Given the description of an element on the screen output the (x, y) to click on. 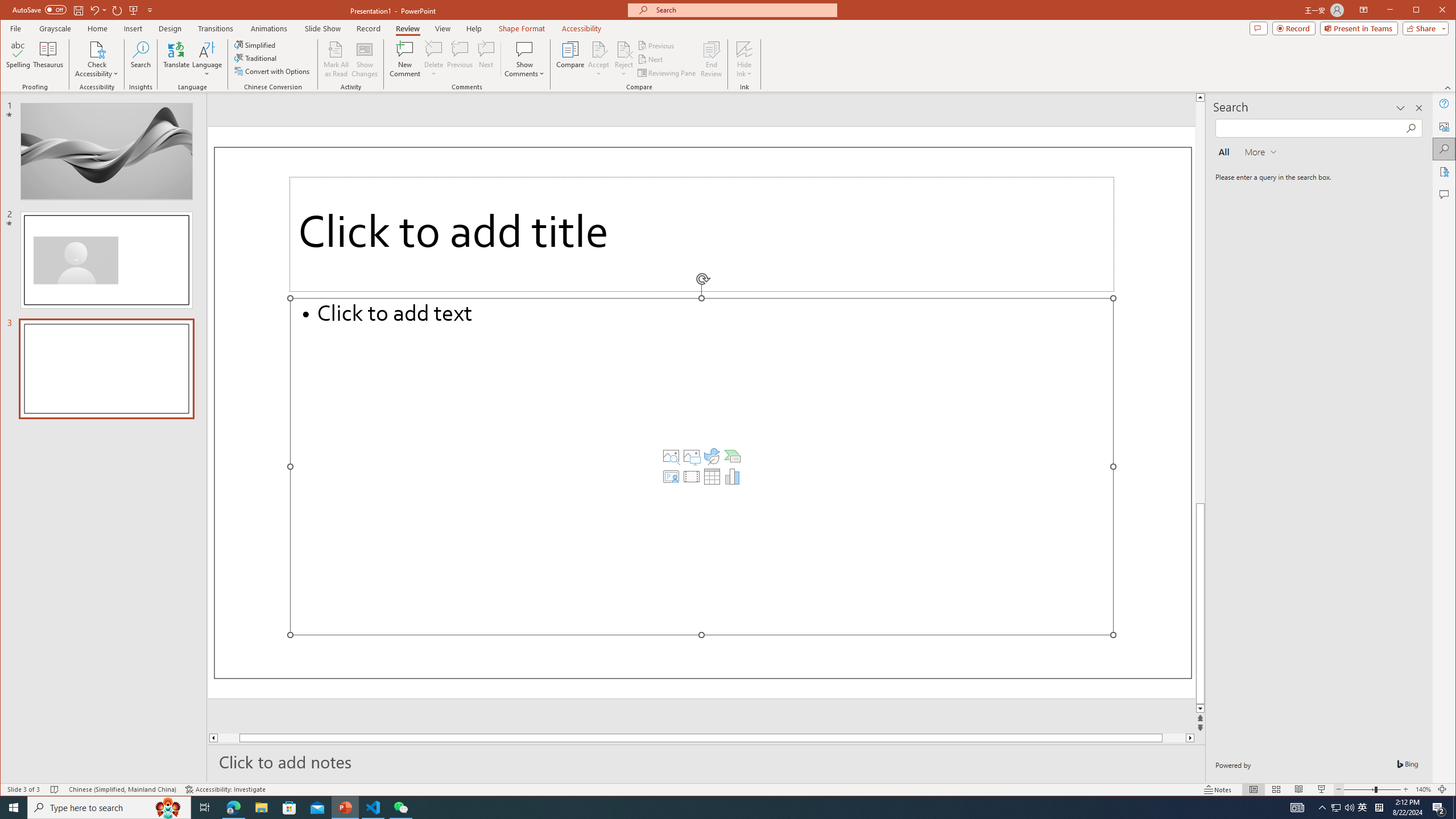
Traditional (256, 57)
Show Comments (524, 59)
Line down (1200, 709)
Language (207, 59)
Accessibility Checker Accessibility: Investigate (225, 789)
Title TextBox (1362, 807)
New Comment (701, 233)
Reject Change (405, 59)
Content Placeholder (623, 48)
Start (701, 466)
Previous (13, 807)
